Given the description of an element on the screen output the (x, y) to click on. 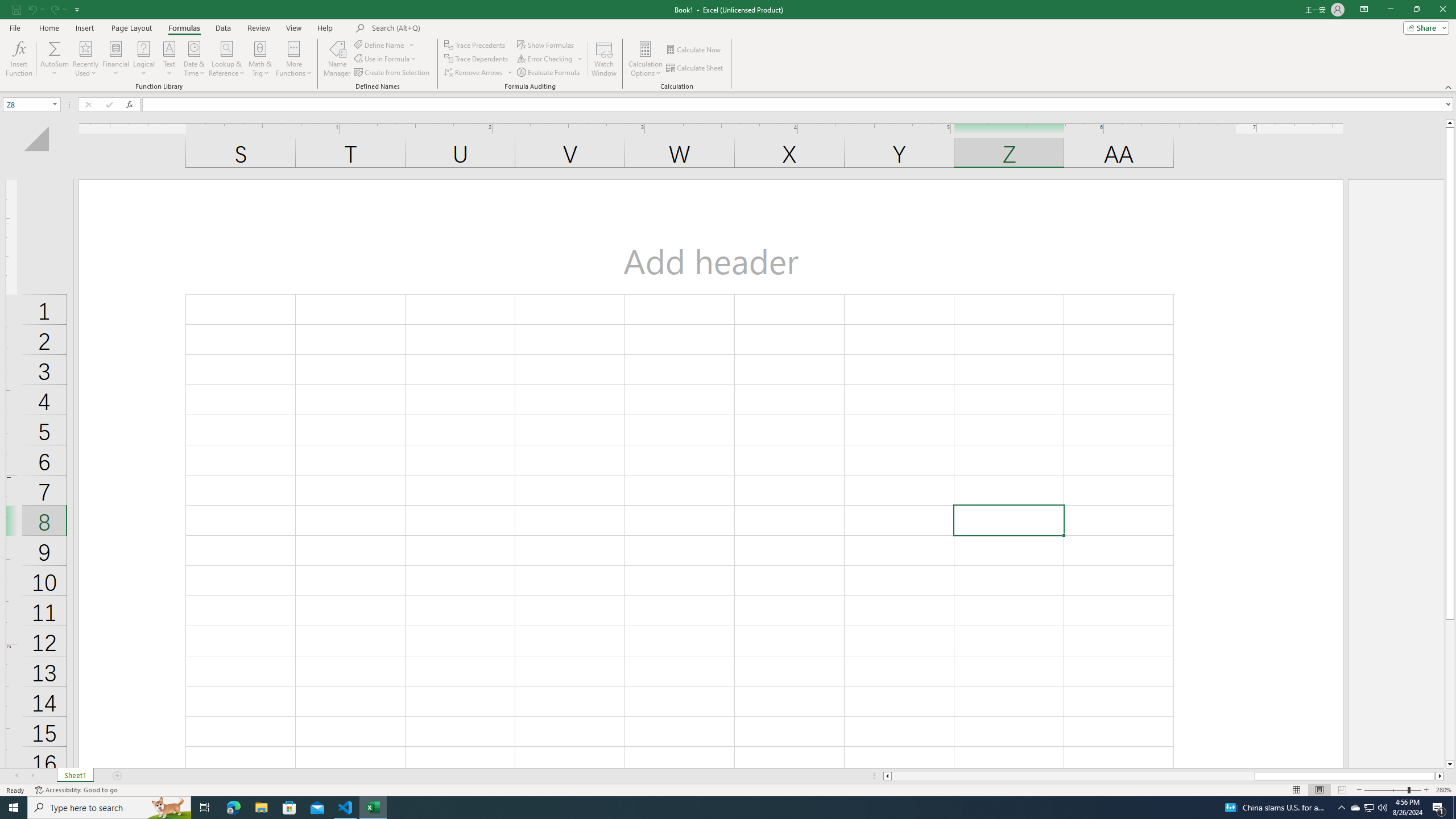
Text (169, 58)
Calculate Now (694, 49)
Date & Time (194, 58)
AutoSum (54, 58)
Recently Used (85, 58)
Sum (54, 48)
Error Checking... (550, 58)
